Given the description of an element on the screen output the (x, y) to click on. 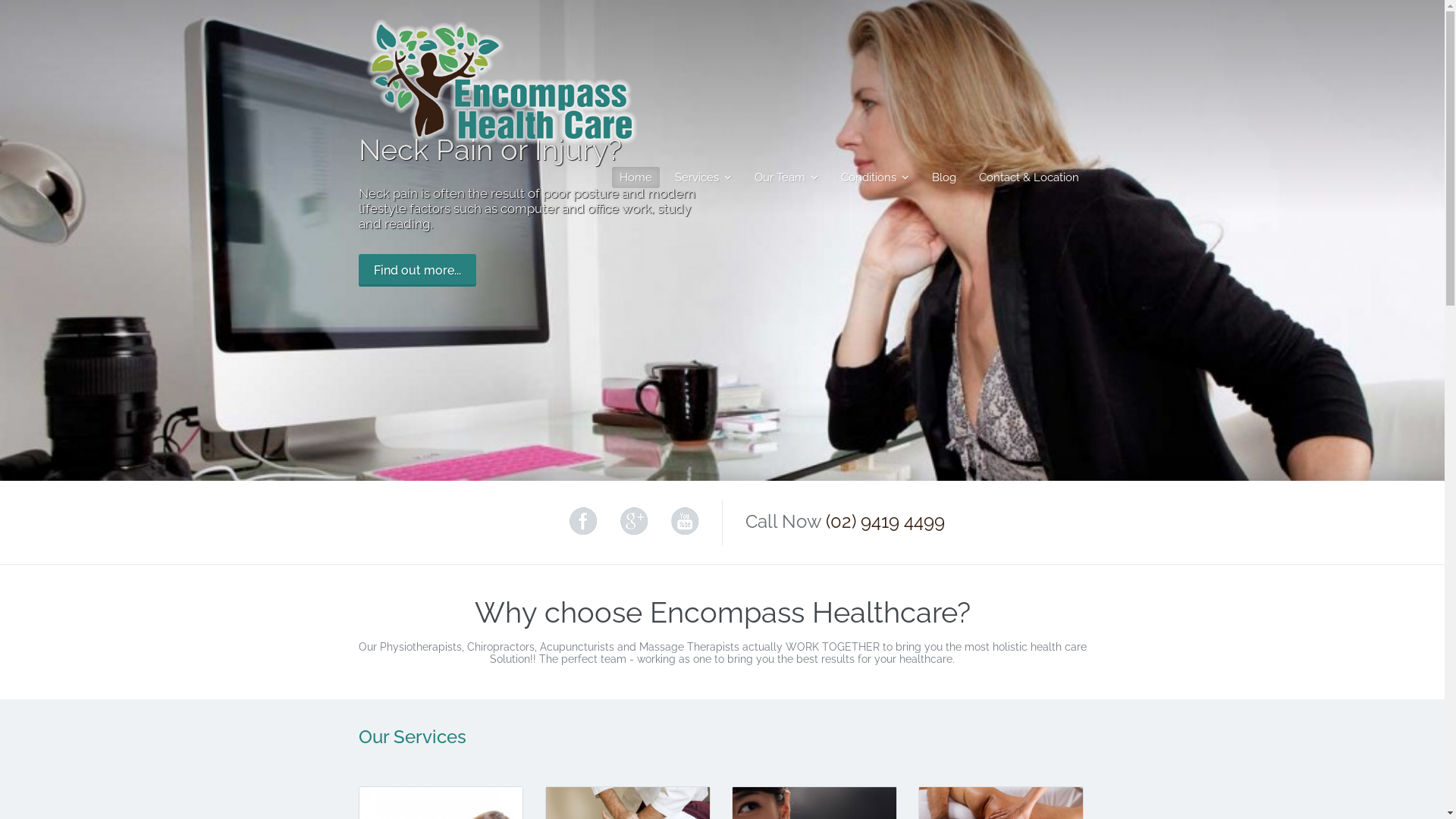
Contact & Location Element type: text (1027, 177)
Find out more... Element type: text (416, 270)
(02) 9419 4499 Element type: text (884, 521)
Encompass Health Care Element type: hover (500, 140)
Our Team Element type: text (785, 177)
Home Element type: text (634, 177)
Blog Element type: text (943, 177)
Services Element type: text (703, 177)
Conditions Element type: text (874, 177)
